Given the description of an element on the screen output the (x, y) to click on. 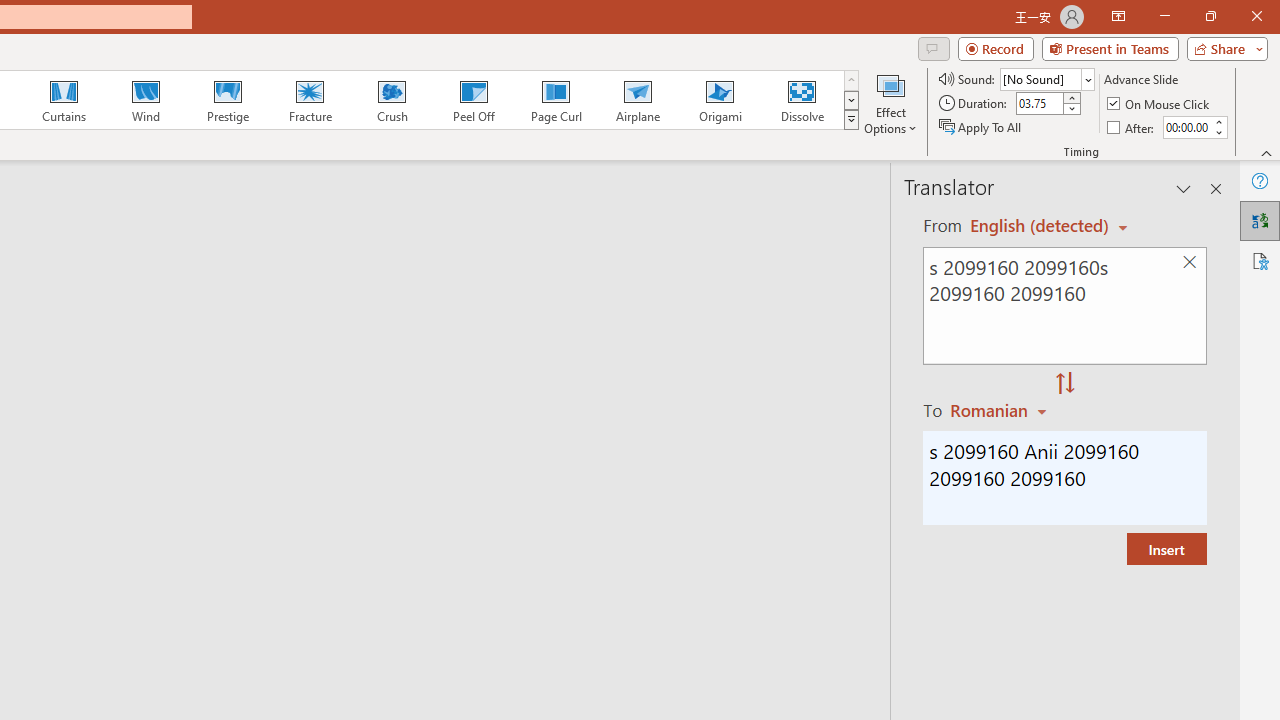
Origami (719, 100)
Airplane (637, 100)
Apply To All (981, 126)
Prestige (227, 100)
Crush (391, 100)
Czech (detected) (1039, 225)
After (1131, 126)
Peel Off (473, 100)
